Given the description of an element on the screen output the (x, y) to click on. 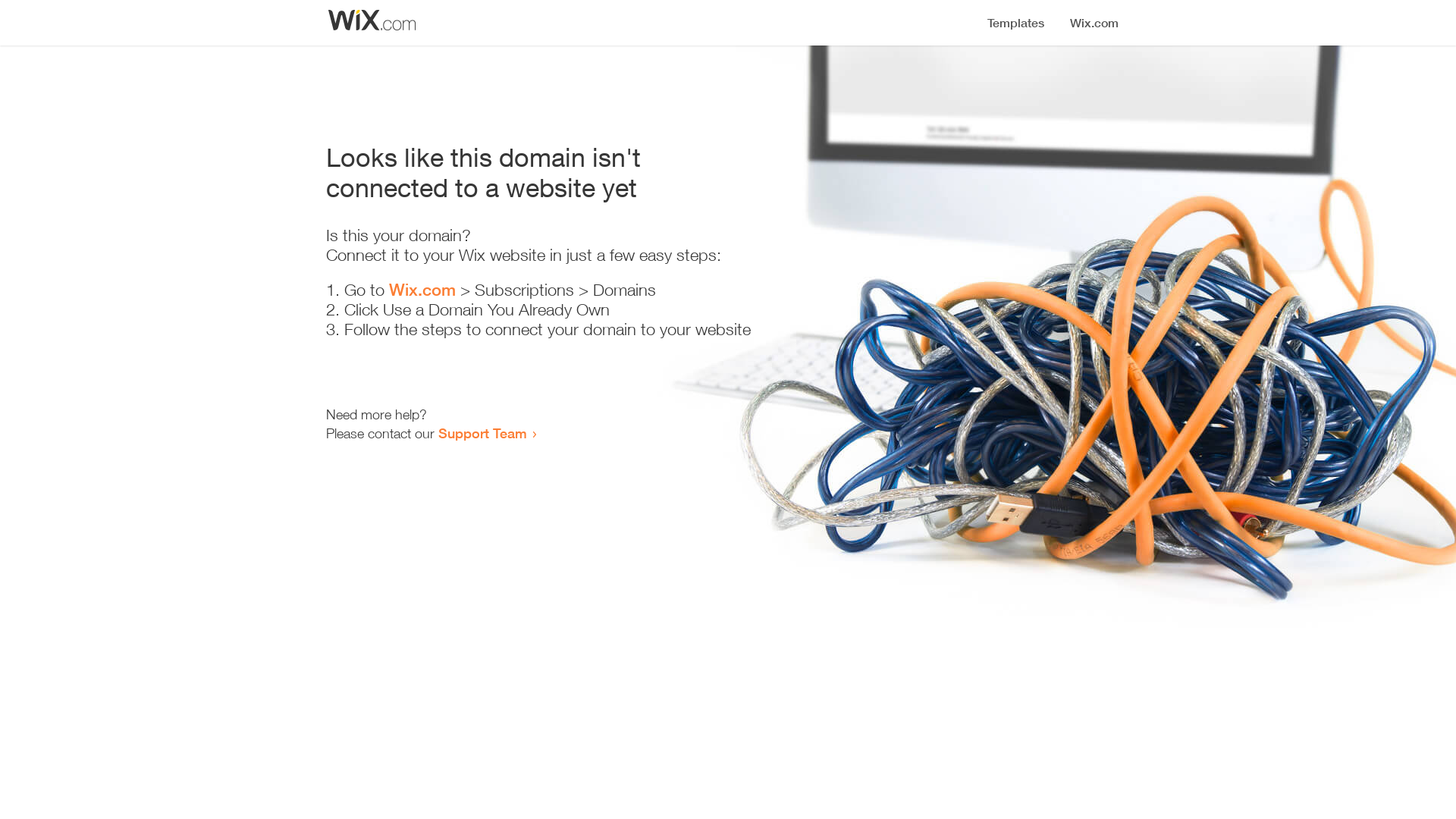
Support Team Element type: text (482, 432)
Wix.com Element type: text (422, 289)
